Given the description of an element on the screen output the (x, y) to click on. 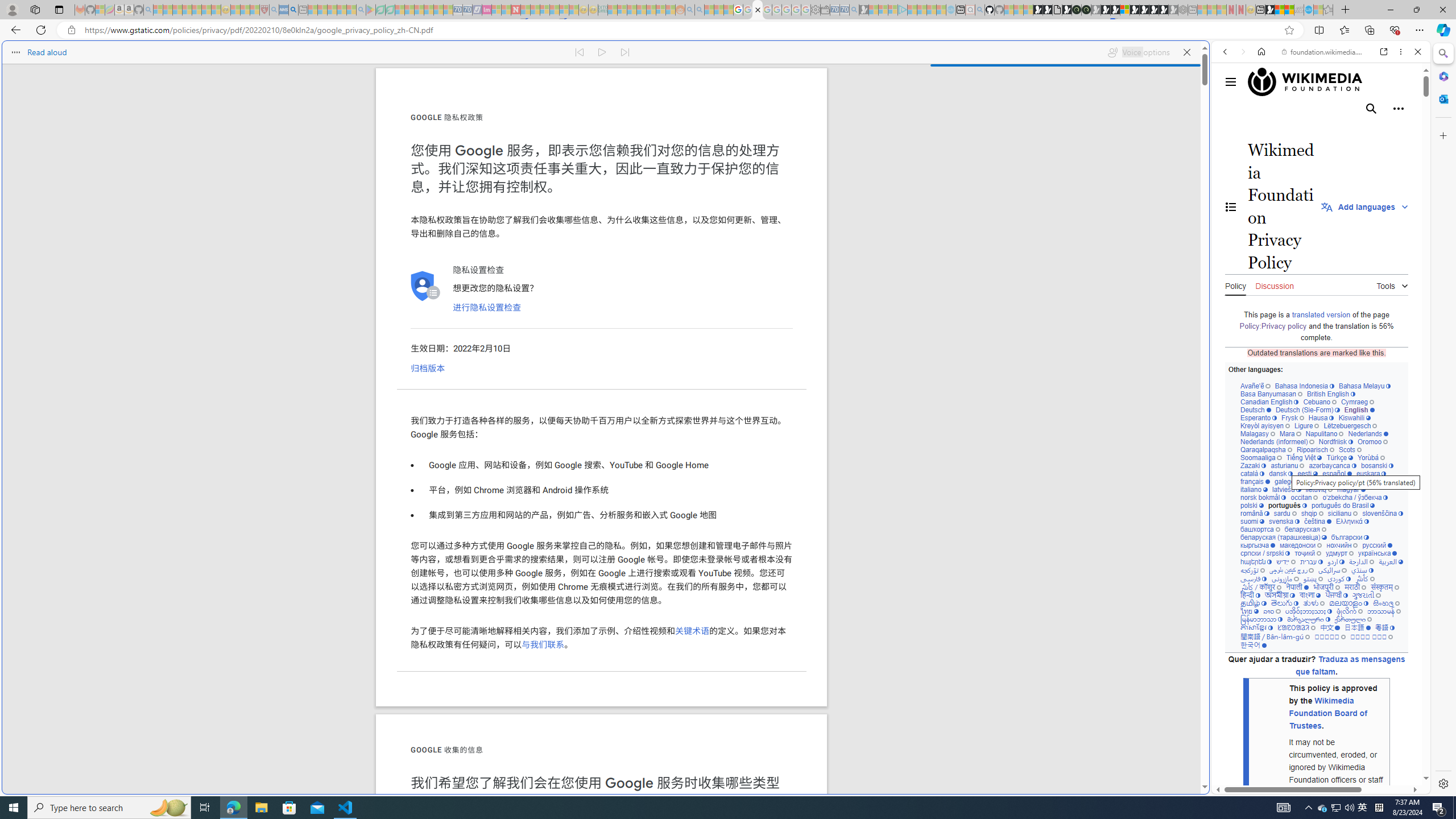
Play Cave FRVR in your browser | Games from Microsoft Start (1105, 9)
Navy Quest (1299, 9)
polski (1251, 505)
Latest Politics News & Archive | Newsweek.com - Sleeping (515, 9)
Bluey: Let's Play! - Apps on Google Play - Sleeping (370, 9)
Local - MSN - Sleeping (254, 9)
Soomaaliga (1260, 456)
